Given the description of an element on the screen output the (x, y) to click on. 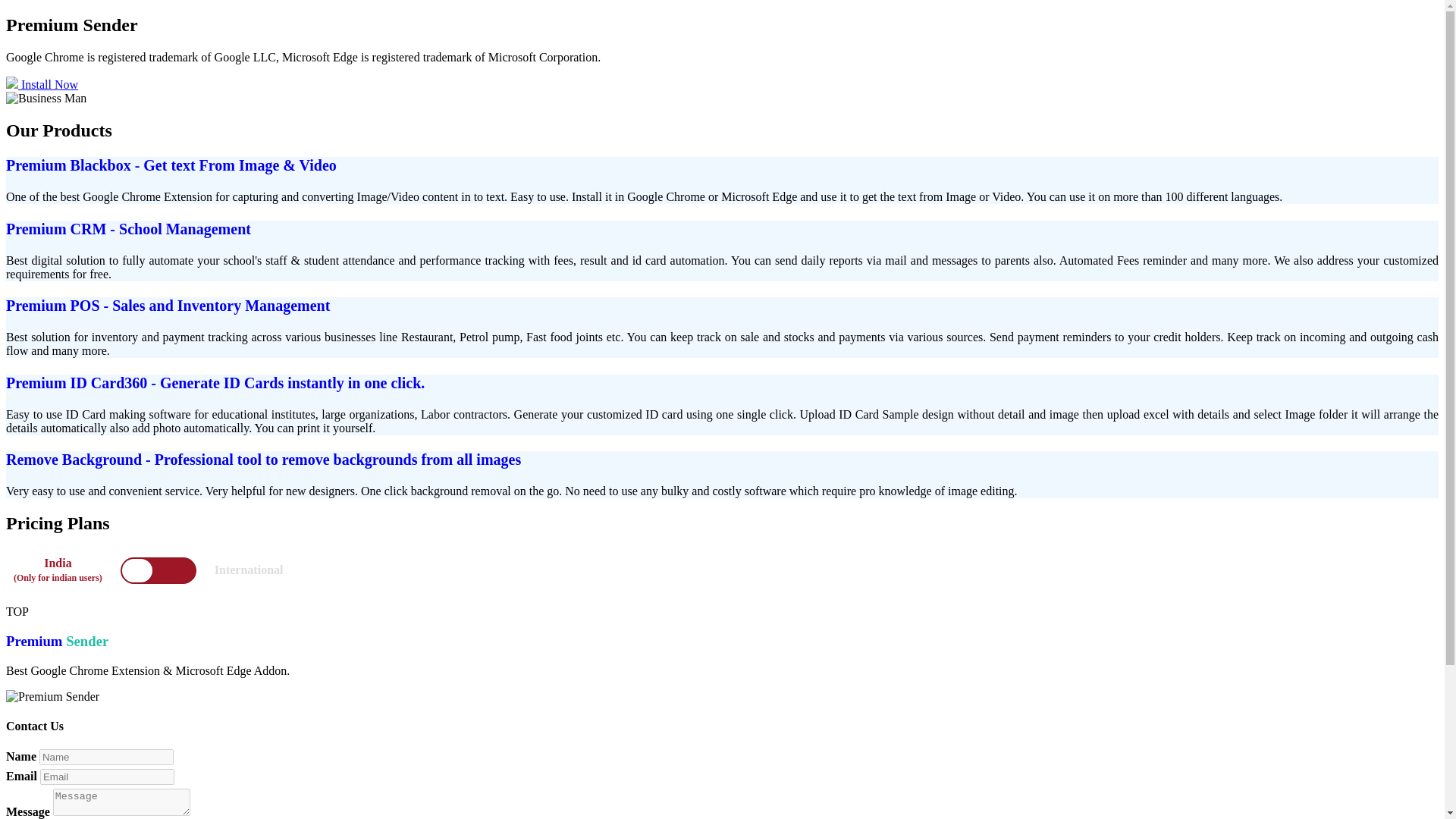
Premium POS - Sales and Inventory Management (167, 305)
Install Now (41, 83)
Premium CRM - School Management (127, 228)
